Given the description of an element on the screen output the (x, y) to click on. 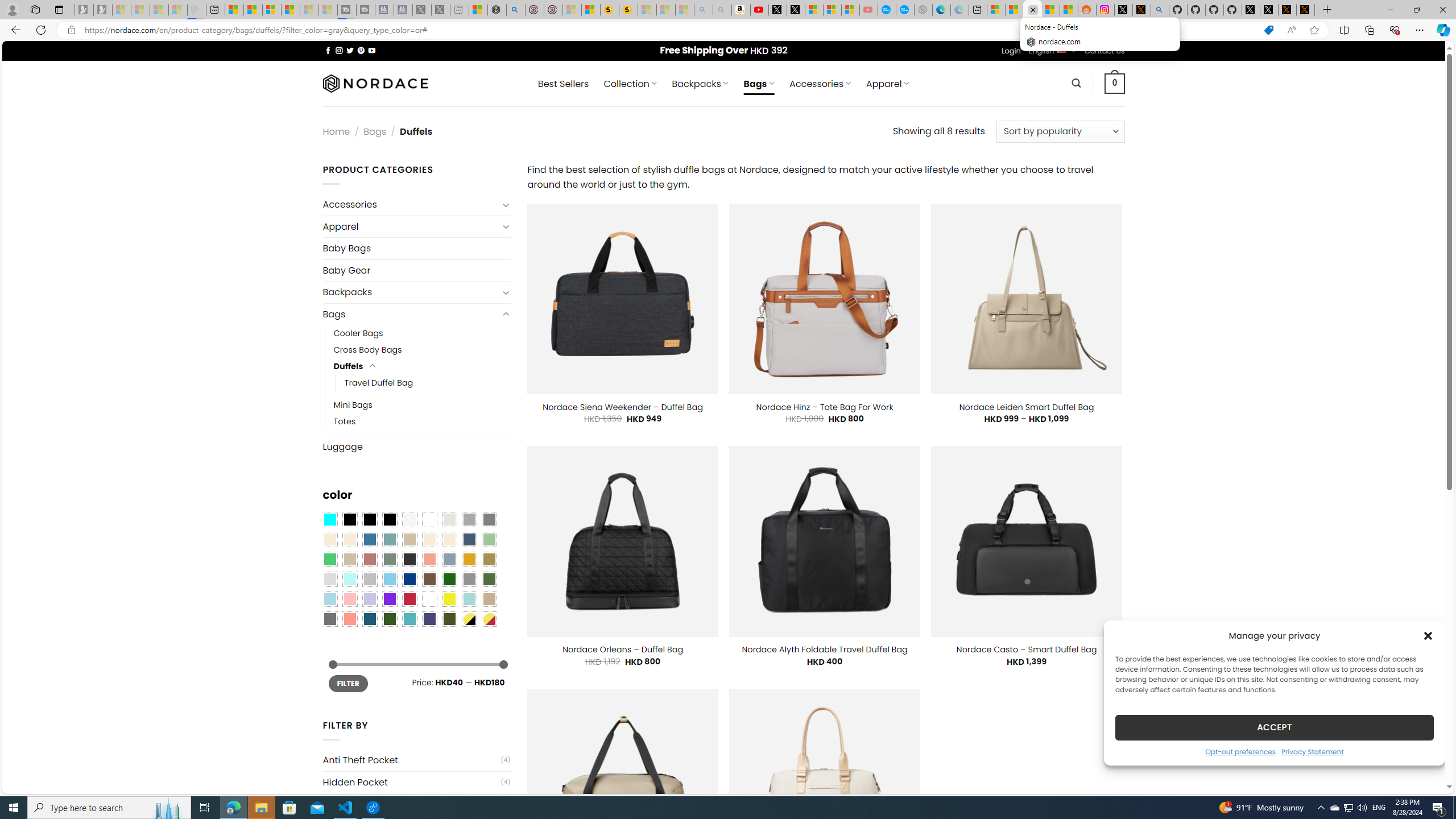
Luggage (416, 446)
Beige (329, 539)
Clear (429, 519)
Peach Pink (349, 618)
Light Blue (329, 599)
Purple (389, 599)
Duffels (348, 366)
